Given the description of an element on the screen output the (x, y) to click on. 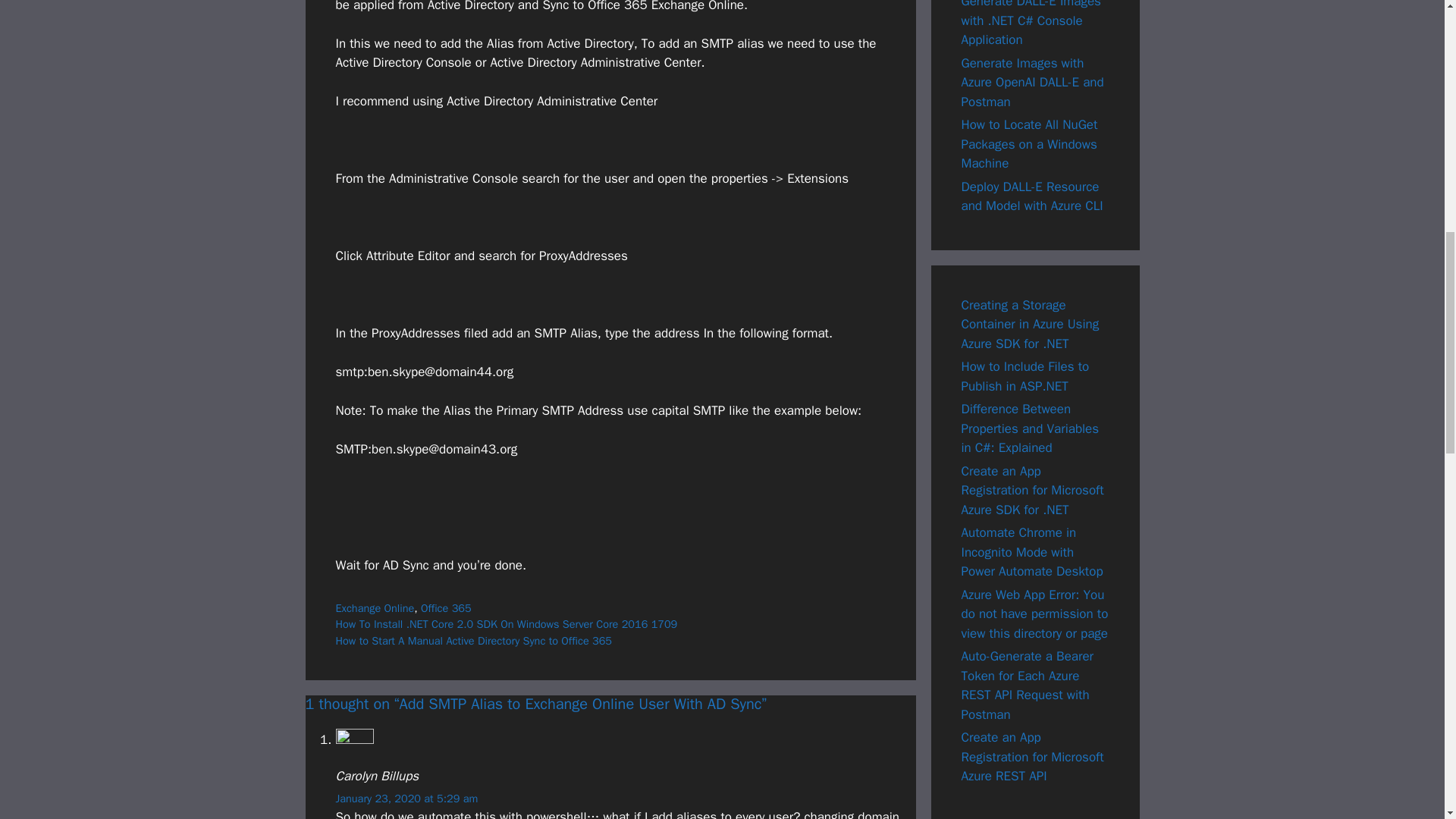
January 23, 2020 at 5:29 am (405, 798)
Exchange Online (373, 608)
Office 365 (445, 608)
Generate Images with Azure OpenAI DALL-E and Postman (1031, 81)
Deploy DALL-E Resource and Model with Azure CLI (1031, 196)
How to Start A Manual Active Directory Sync to Office 365 (472, 640)
How to Locate All NuGet Packages on a Windows Machine (1028, 144)
How to Include Files to Publish in ASP.NET (1024, 375)
